Given the description of an element on the screen output the (x, y) to click on. 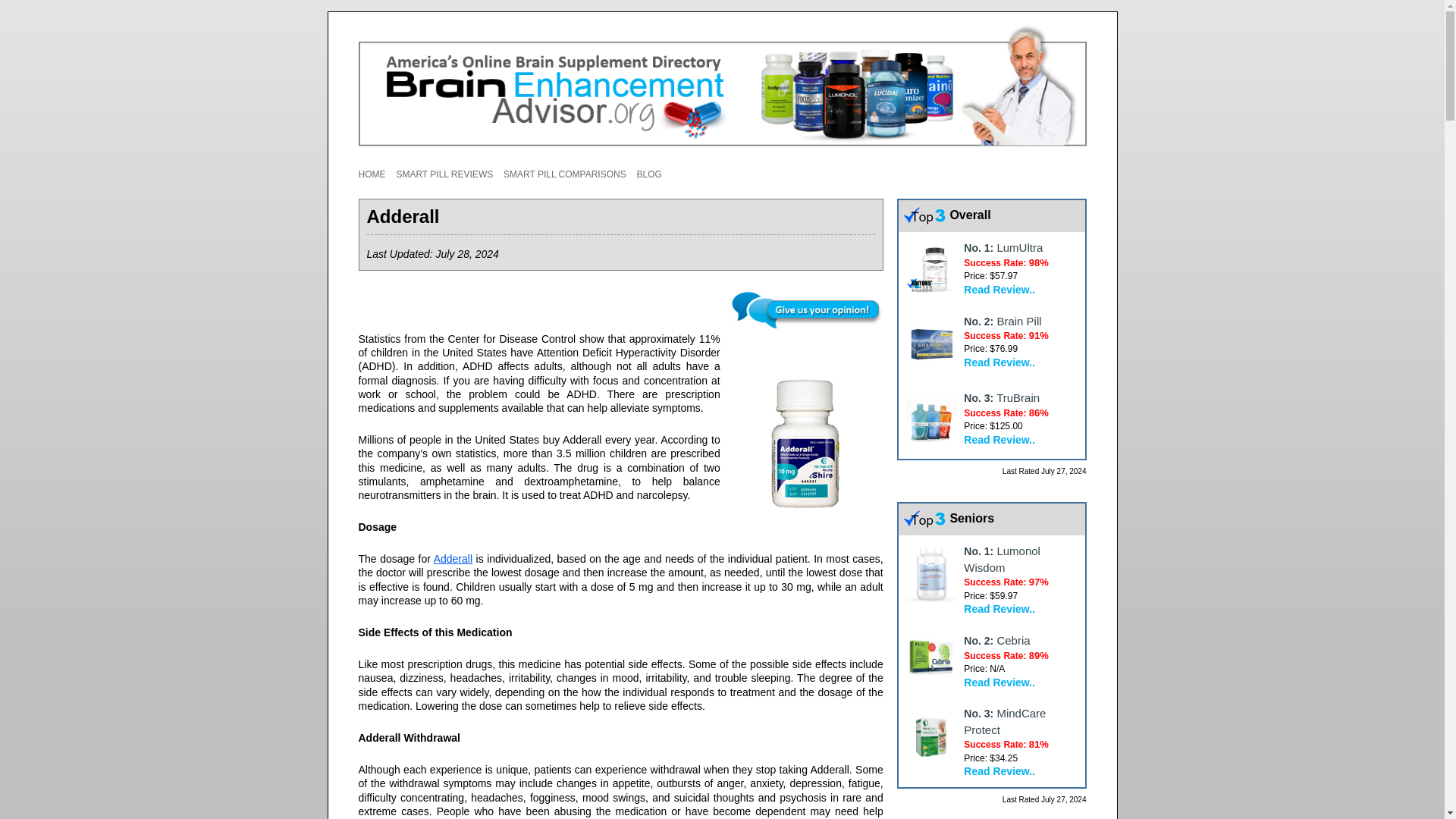
Skip to content (757, 163)
HOME (371, 174)
PILLS THAT MAKE YOU SMARTER (435, 202)
Skip to content (757, 163)
FOR ADULTS (472, 202)
SMART PILL REVIEWS (444, 174)
